Given the description of an element on the screen output the (x, y) to click on. 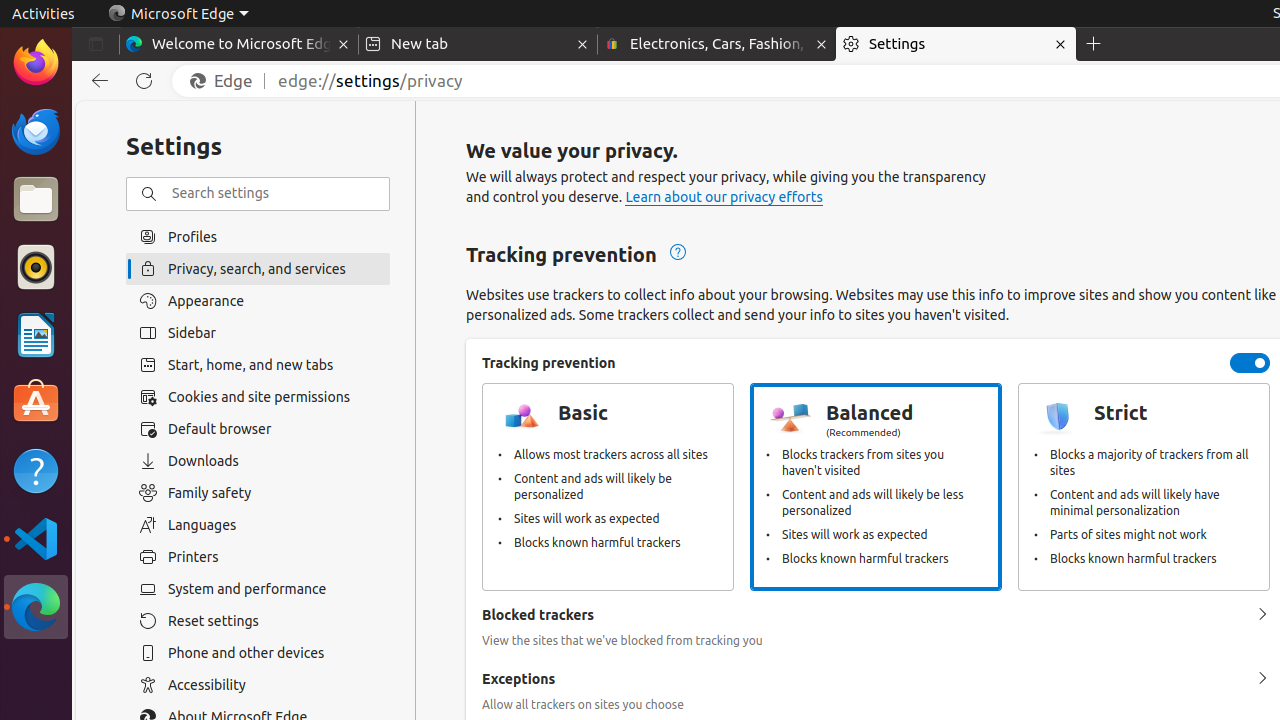
Microsoft Edge Element type: menu (178, 13)
Downloads Element type: tree-item (258, 461)
Balanced (Recommended) Blocks trackers from sites you haven't visited Content and ads will likely be less personalized Sites will work as expected Blocks known harmful trackers Element type: radio-button (876, 487)
Thunderbird Mail Element type: push-button (36, 131)
Tab actions menu Element type: push-button (96, 44)
